Given the description of an element on the screen output the (x, y) to click on. 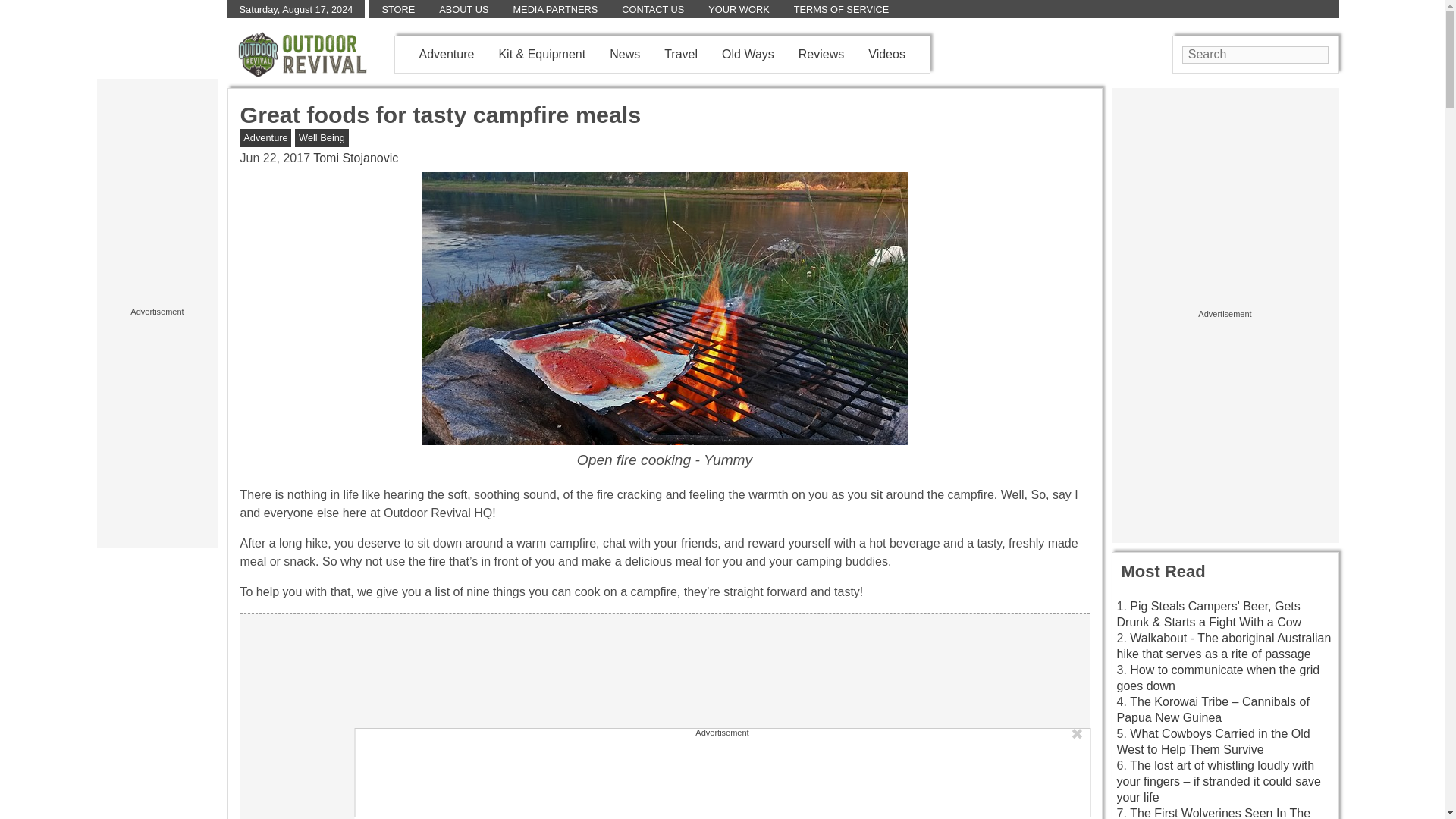
Open fire cooking - Yummy (664, 308)
ABOUT US (463, 9)
Reviews (820, 53)
STORE (397, 9)
Old Ways (748, 53)
How to communicate when the grid goes down (1217, 677)
News (625, 53)
The First Wolverines Seen In The Wild For Over 100 Years (1213, 812)
Tomi Stojanovic (355, 157)
